Given the description of an element on the screen output the (x, y) to click on. 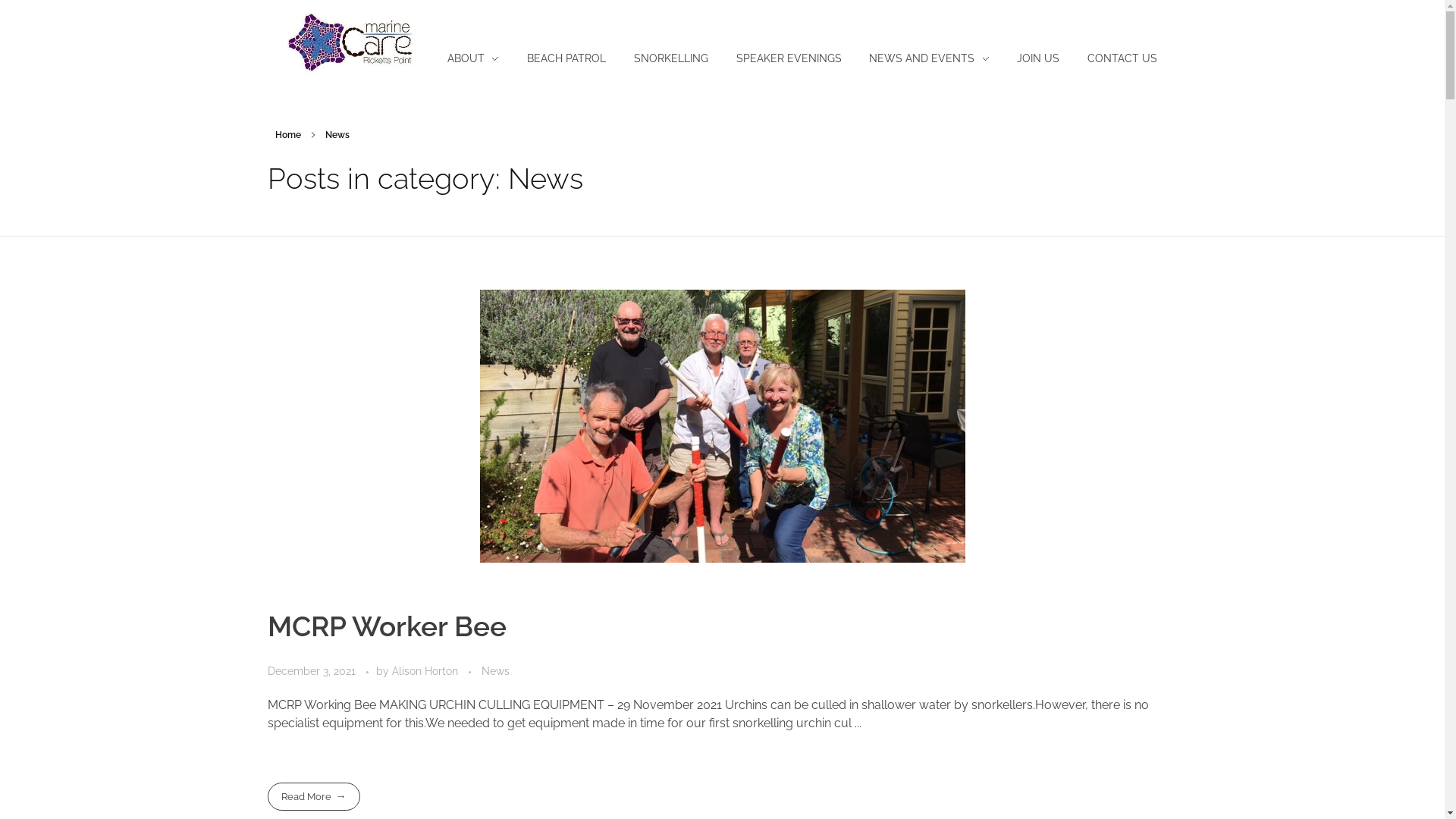
News Element type: text (494, 671)
NEWS AND EVENTS Element type: text (929, 58)
December 3, 2021 Element type: text (311, 671)
Read More Element type: text (312, 796)
Marine Care Element type: hover (347, 42)
CONTACT US Element type: text (1115, 58)
SNORKELLING Element type: text (671, 58)
Marine Care Element type: text (324, 86)
SPEAKER EVENINGS Element type: text (788, 58)
Home Element type: text (287, 134)
Alison Horton Element type: text (425, 671)
BEACH PATROL Element type: text (566, 58)
ABOUT Element type: text (480, 58)
MCRP Worker Bee Element type: text (385, 626)
JOIN US Element type: text (1038, 58)
